Given the description of an element on the screen output the (x, y) to click on. 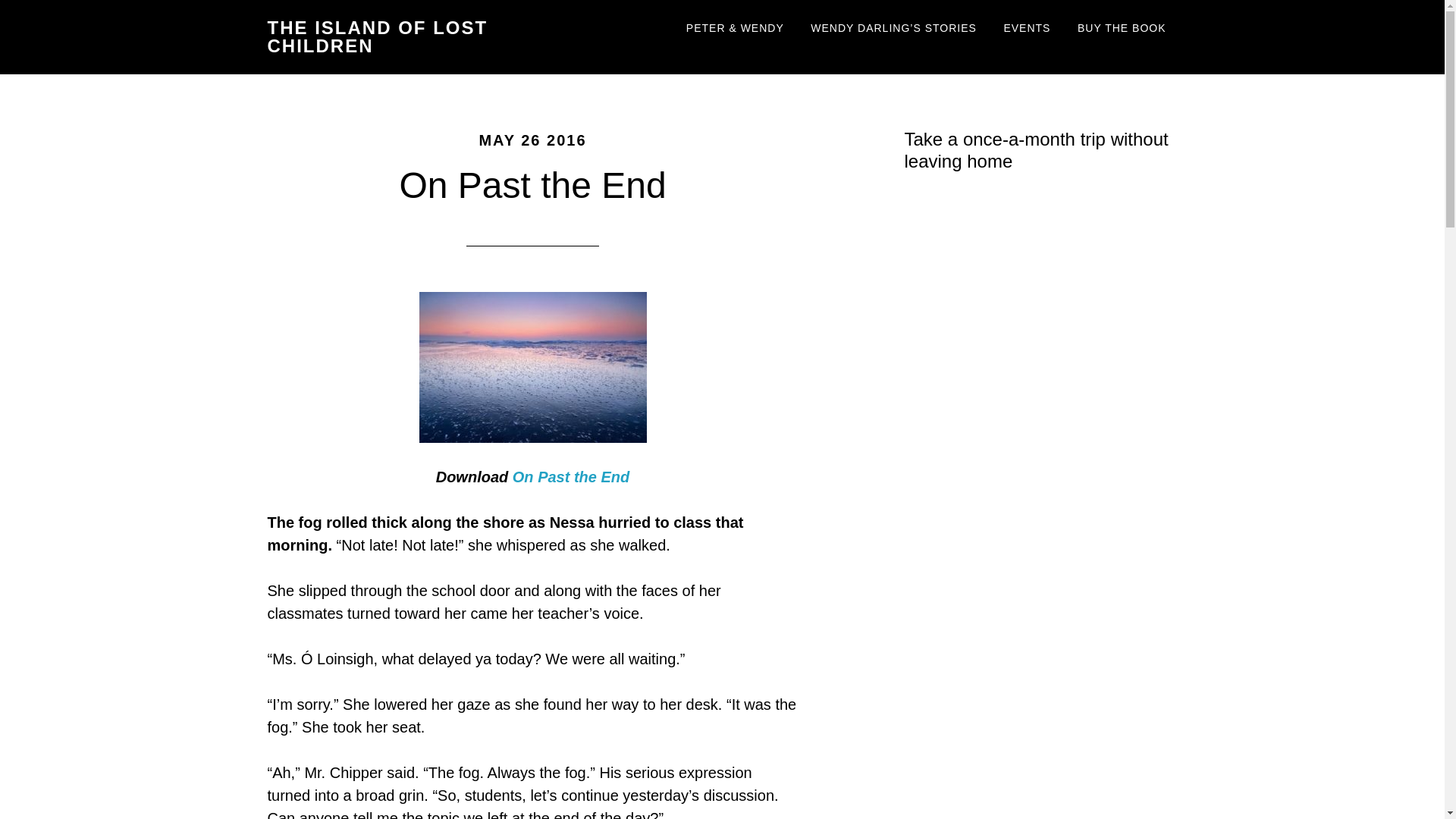
On Past the End (570, 476)
EVENTS (1026, 28)
On Past the End (531, 185)
THE ISLAND OF LOST CHILDREN (376, 36)
BUY THE BOOK (1121, 28)
